Given the description of an element on the screen output the (x, y) to click on. 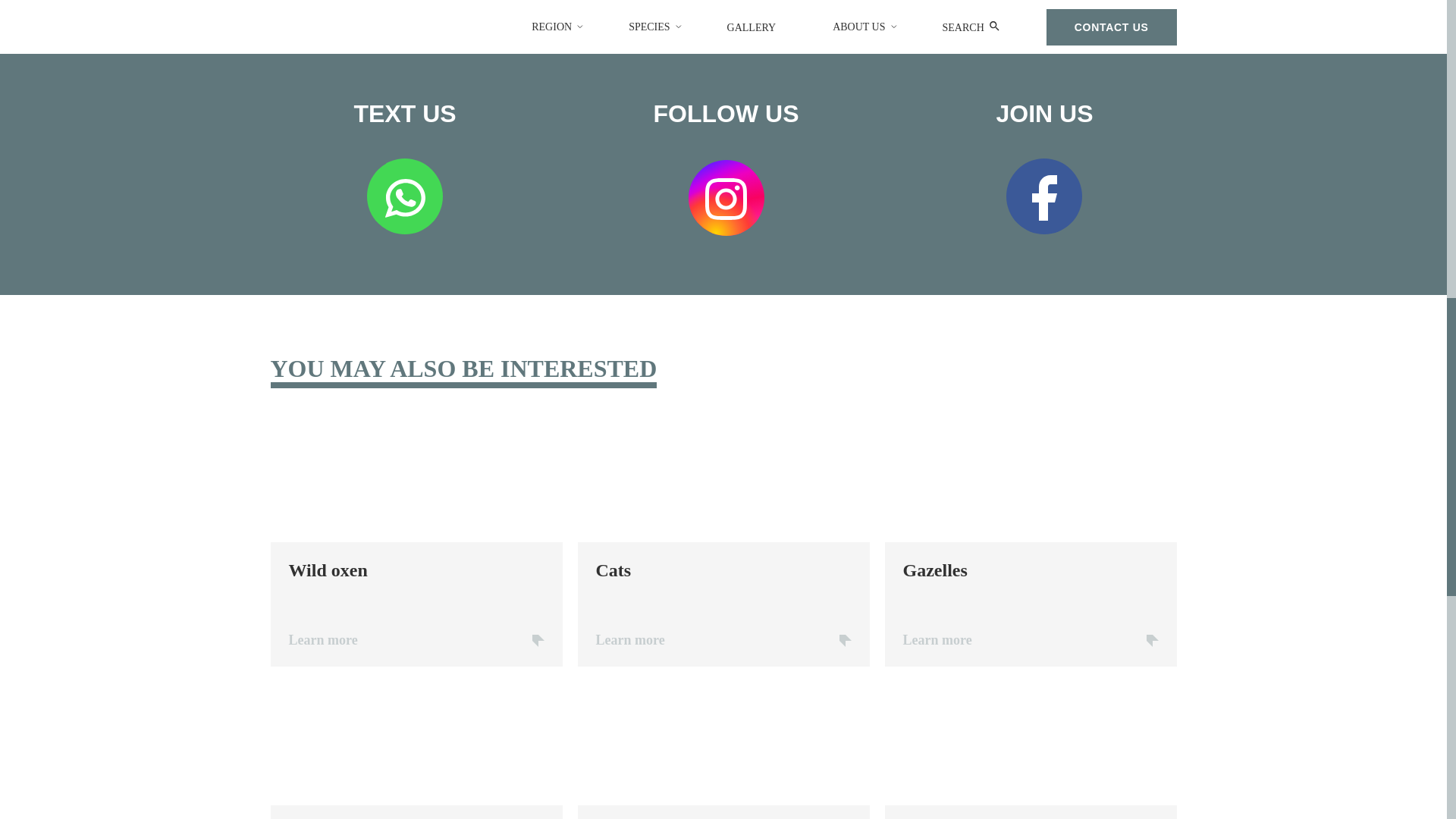
FOLLOW US (726, 165)
